Given the description of an element on the screen output the (x, y) to click on. 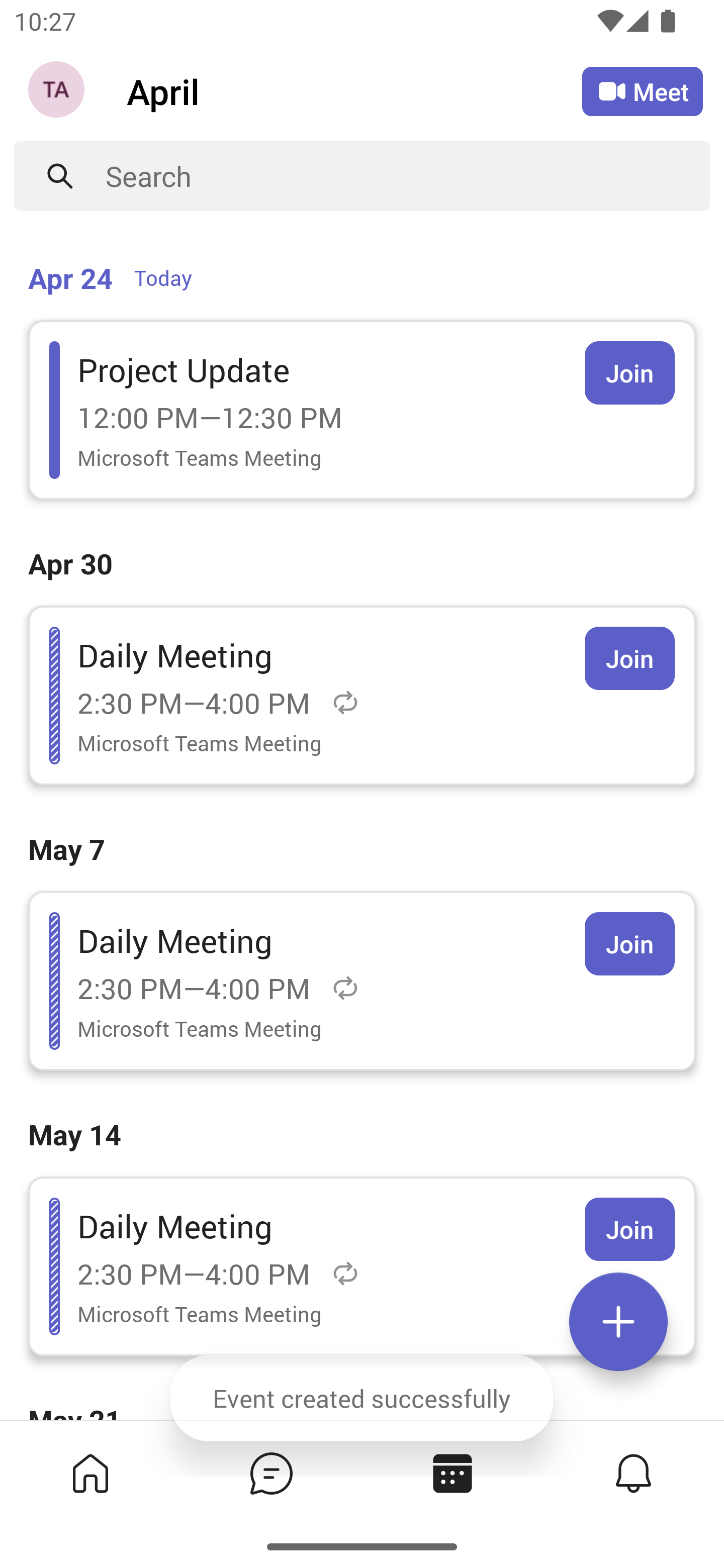
Navigation (58, 91)
Meet Meet now or join with an ID (642, 91)
April April Calendar Agenda View (354, 90)
Search (407, 176)
Join (629, 372)
Join (629, 658)
Join (629, 943)
Join (629, 1228)
Expand meetings menu (618, 1321)
Home tab,1 of 4, not selected (90, 1472)
Chat tab,2 of 4, not selected (271, 1472)
Calendar tab, 3 of 4 (452, 1472)
Activity tab,4 of 4, not selected (633, 1472)
